Given the description of an element on the screen output the (x, y) to click on. 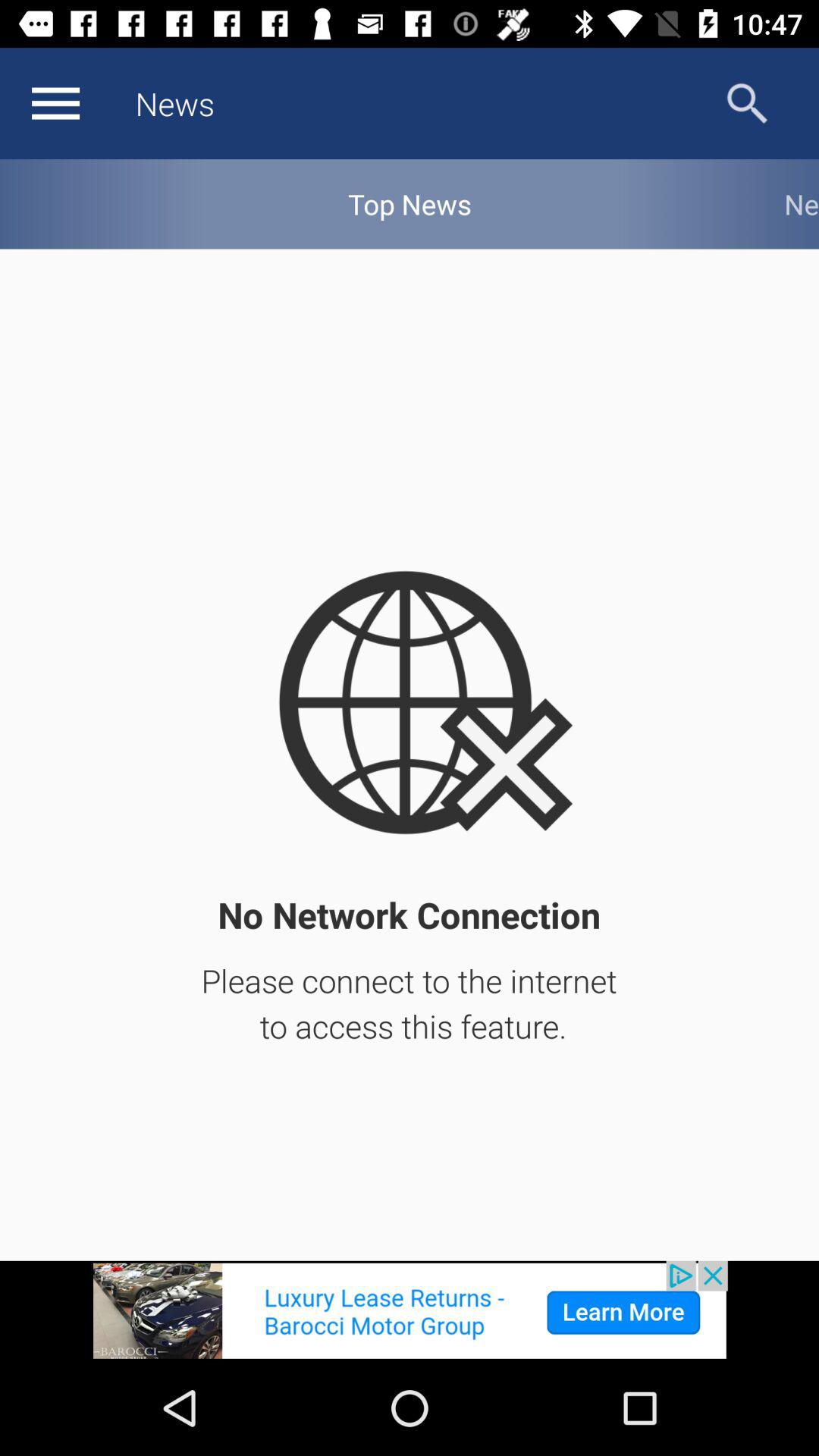
add image icon (409, 1310)
